Given the description of an element on the screen output the (x, y) to click on. 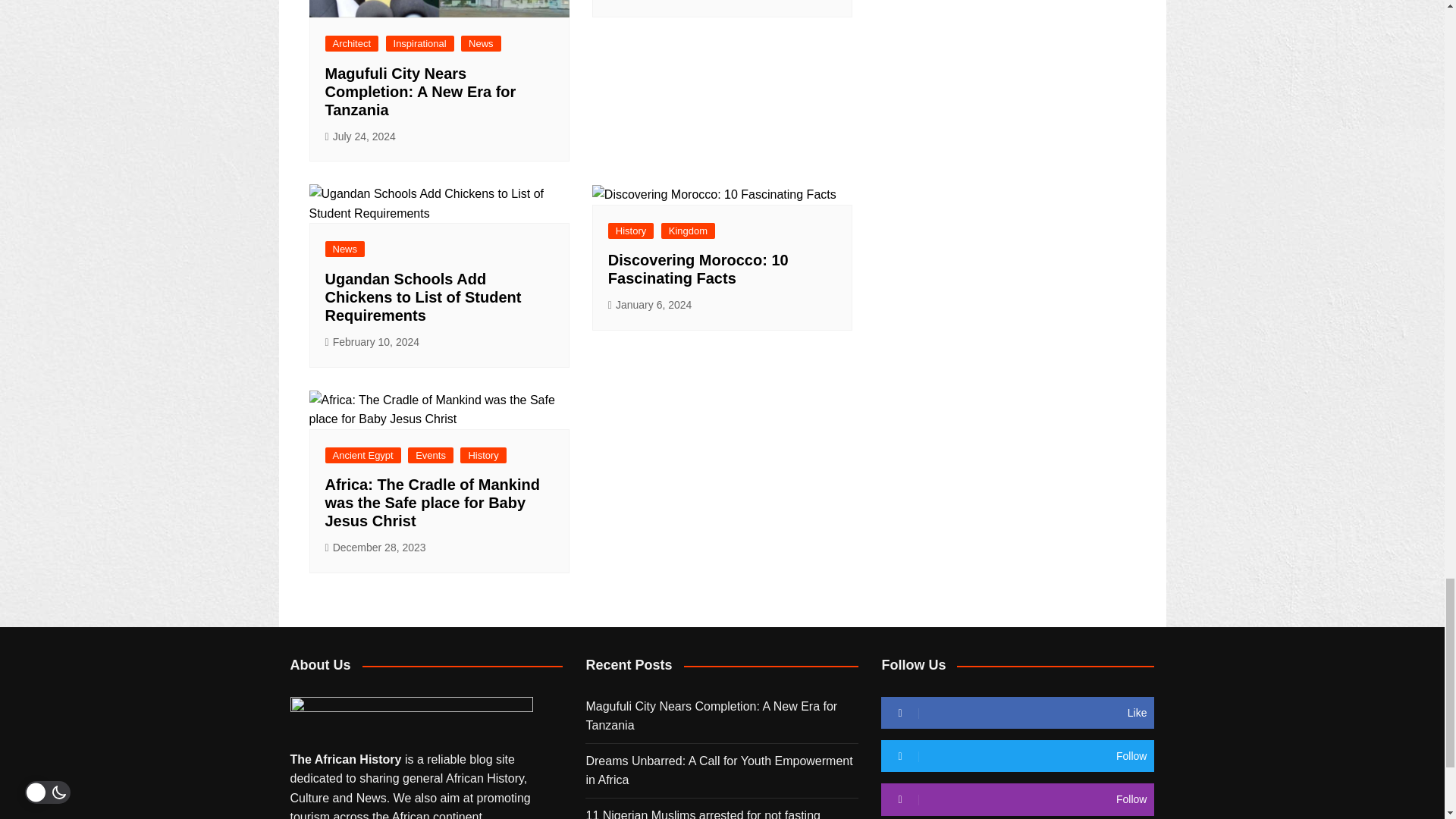
Inspirational (419, 43)
News (480, 43)
Magufuli City Nears Completion: A New Era for Tanzania (419, 91)
July 24, 2024 (359, 136)
Architect (351, 43)
